Given the description of an element on the screen output the (x, y) to click on. 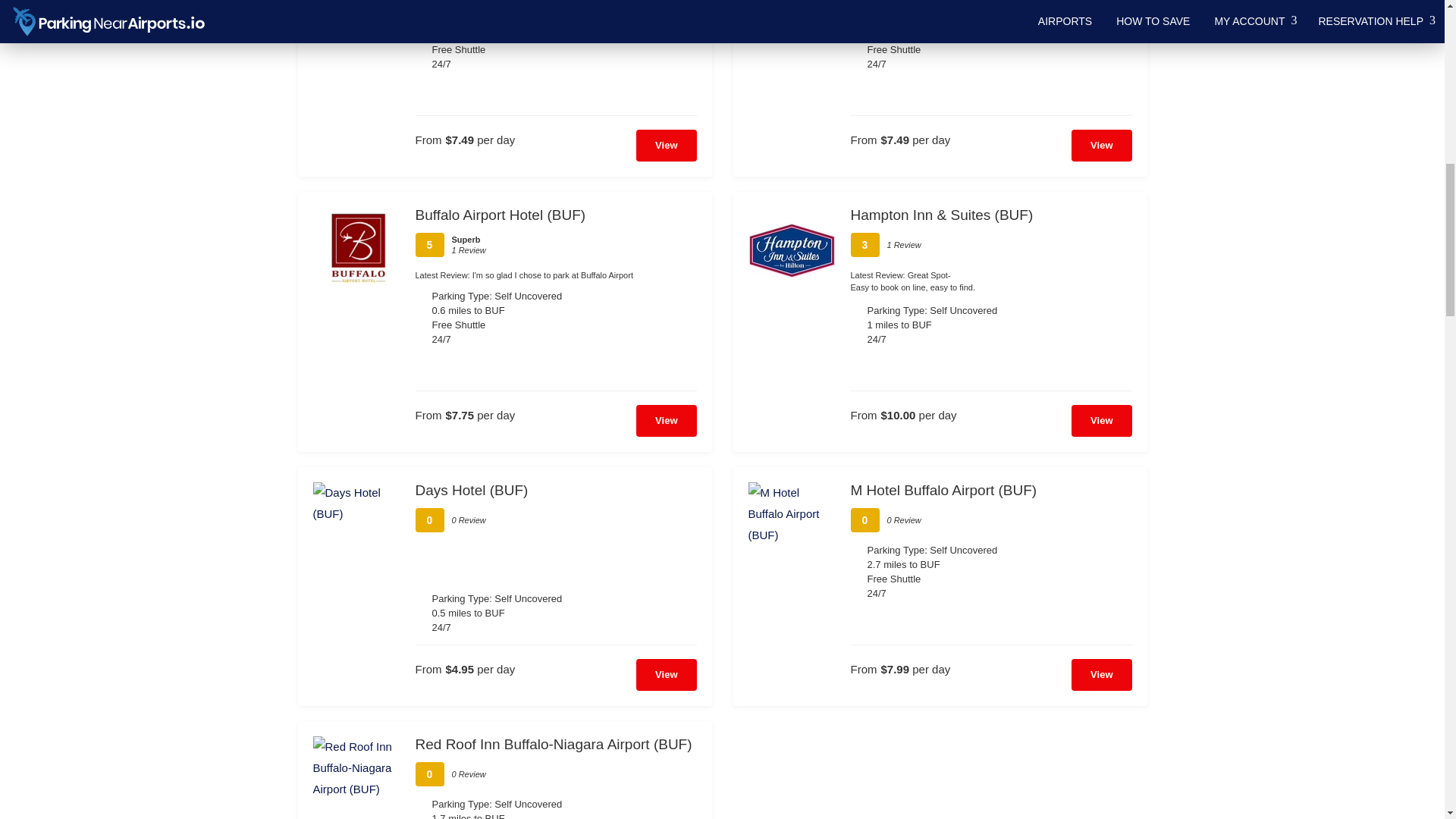
View (665, 145)
View (1101, 675)
View (1101, 145)
View (665, 420)
View (1101, 420)
View (665, 675)
